Given the description of an element on the screen output the (x, y) to click on. 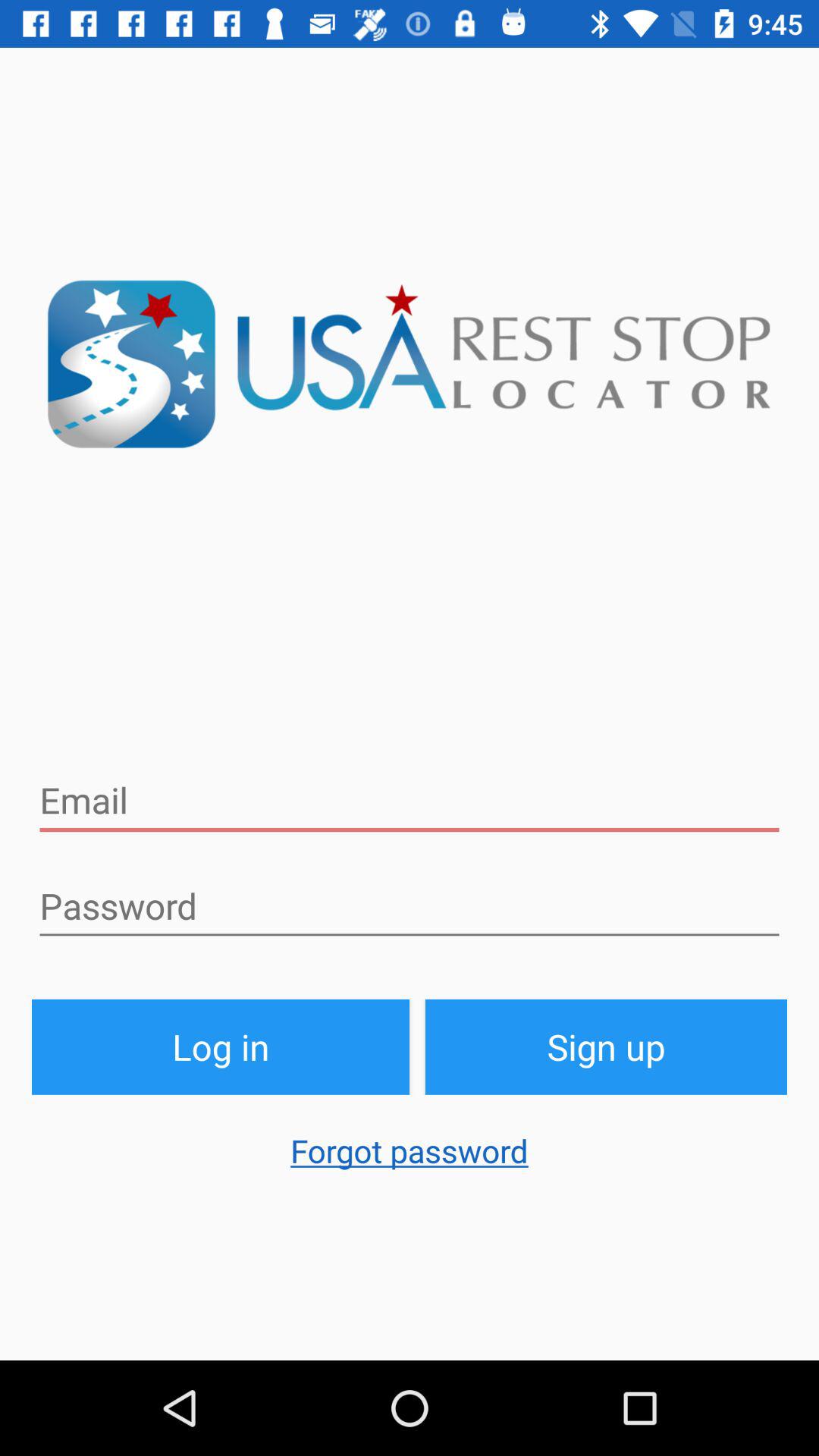
turn off the forgot password icon (409, 1158)
